Given the description of an element on the screen output the (x, y) to click on. 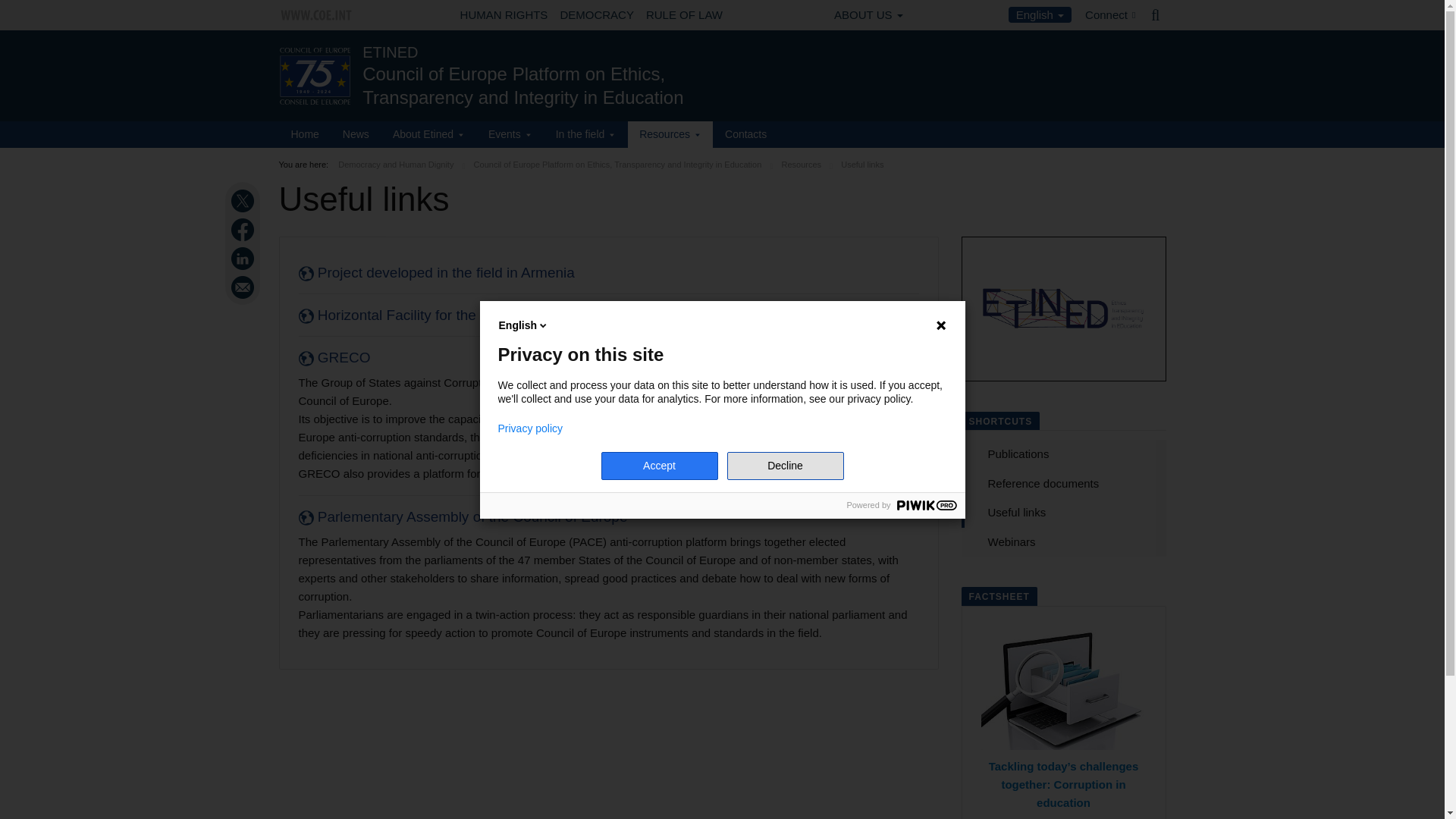
Send this page (244, 287)
English (1040, 14)
RULE OF LAW (684, 15)
WWW.COE.INT (317, 15)
HUMAN RIGHTS (504, 15)
Share on Linkedin (244, 258)
Connect (1109, 15)
Share on Facebook (244, 229)
ABOUT US (868, 15)
DEMOCRACY (596, 15)
